Given the description of an element on the screen output the (x, y) to click on. 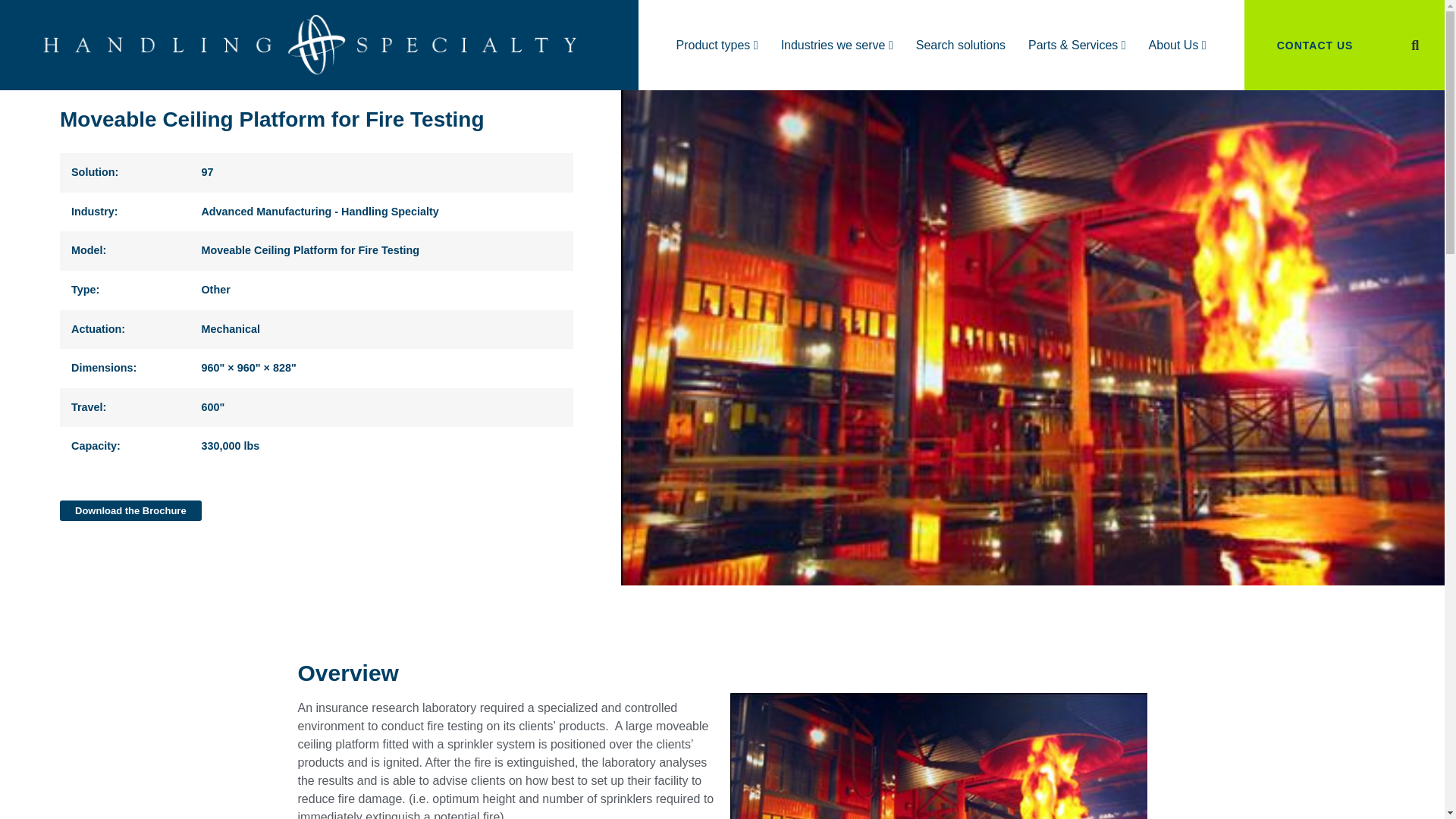
Industries we serve (837, 45)
Product types (716, 45)
